Given the description of an element on the screen output the (x, y) to click on. 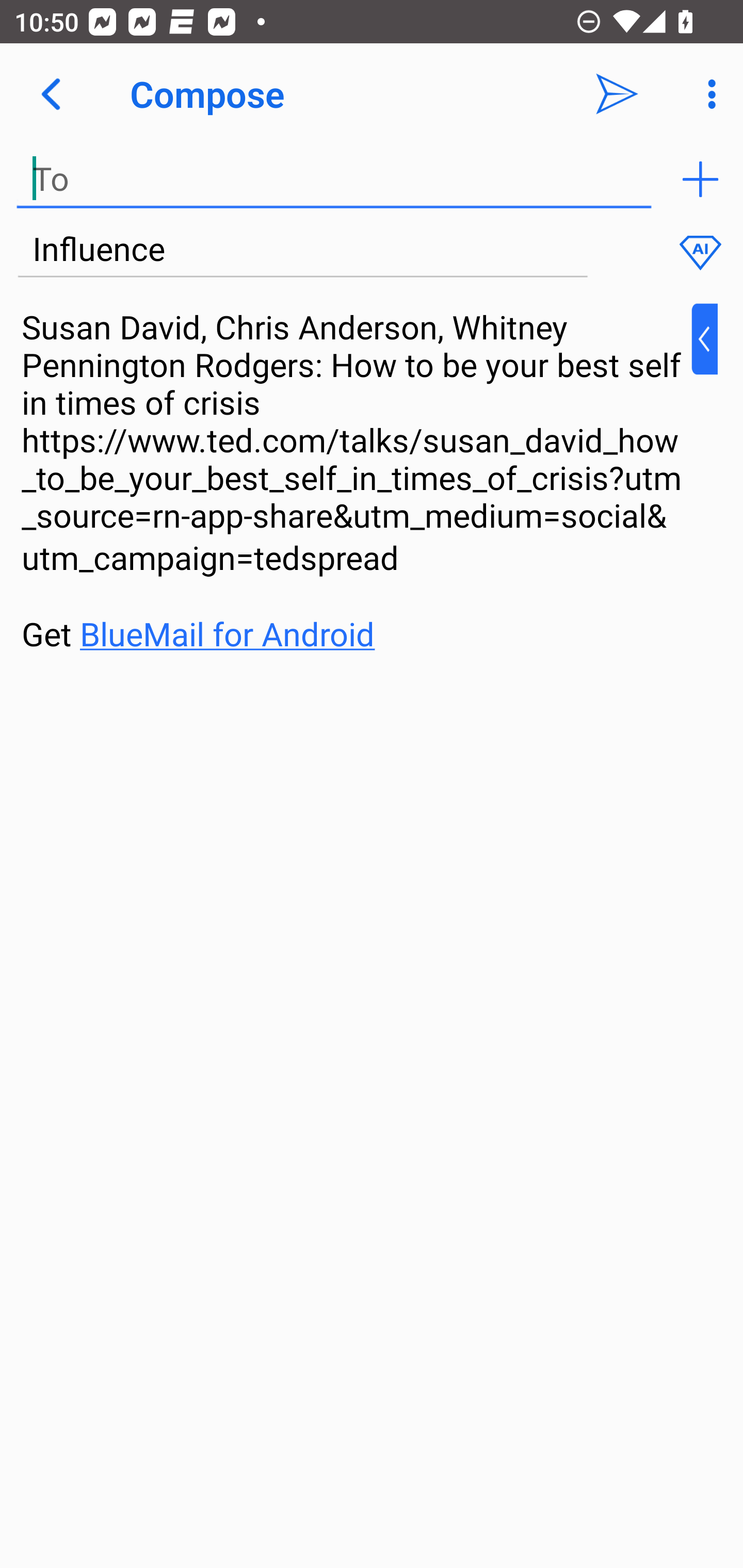
Navigate up (50, 93)
Send (616, 93)
More Options (706, 93)
To (334, 179)
Add recipient (To) (699, 179)
Influence (302, 249)
